Given the description of an element on the screen output the (x, y) to click on. 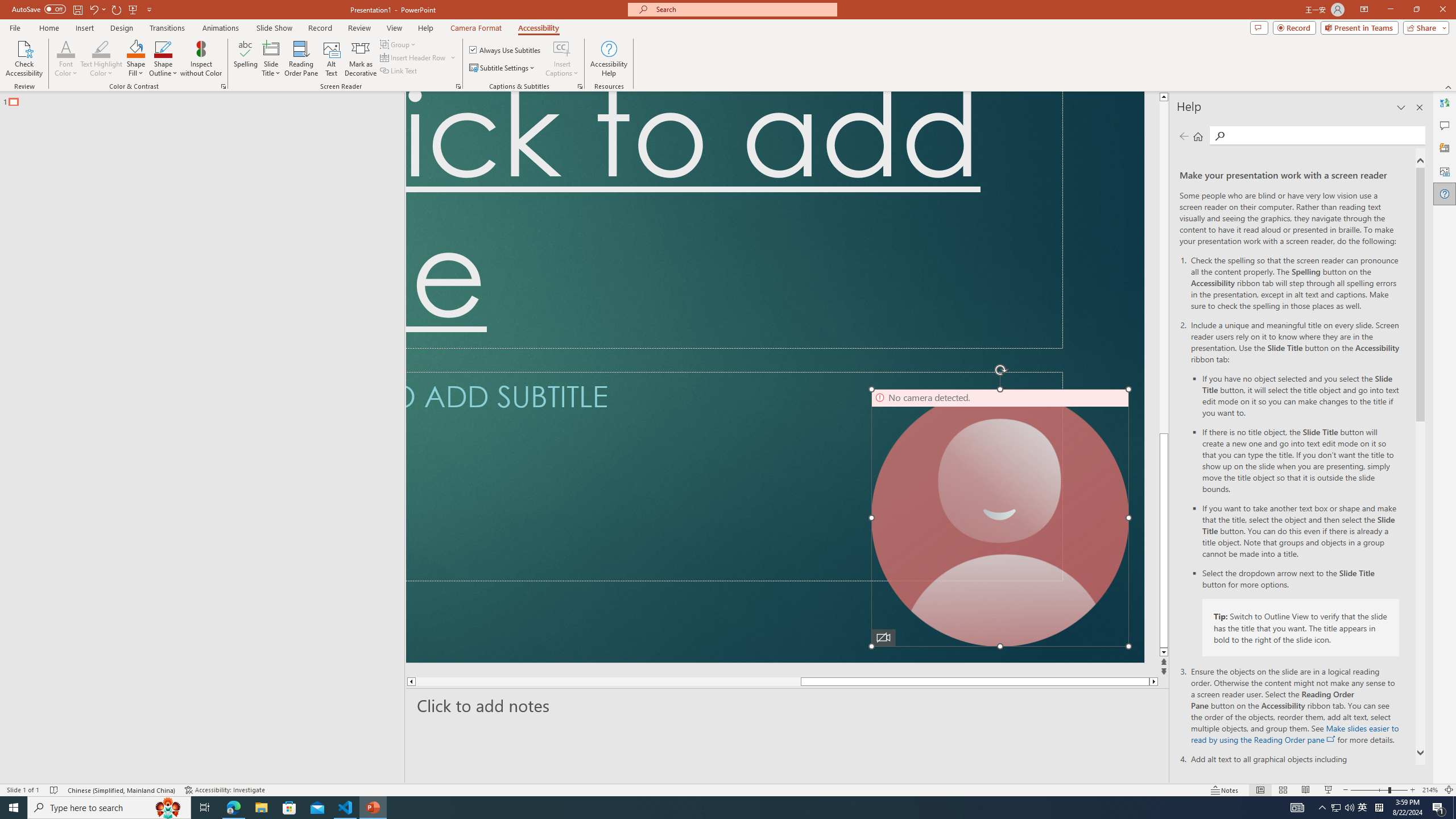
Zoom Out (1328, 773)
Page Number Screen 1 of 1  (34, 773)
Minimize (1353, 11)
Read Mode (1219, 773)
Tools (72, 11)
AutomationID: BadgeAnchorLargeTicker (26, 800)
Text Size (1363, 773)
View (117, 11)
Zoom In (1373, 773)
